Given the description of an element on the screen output the (x, y) to click on. 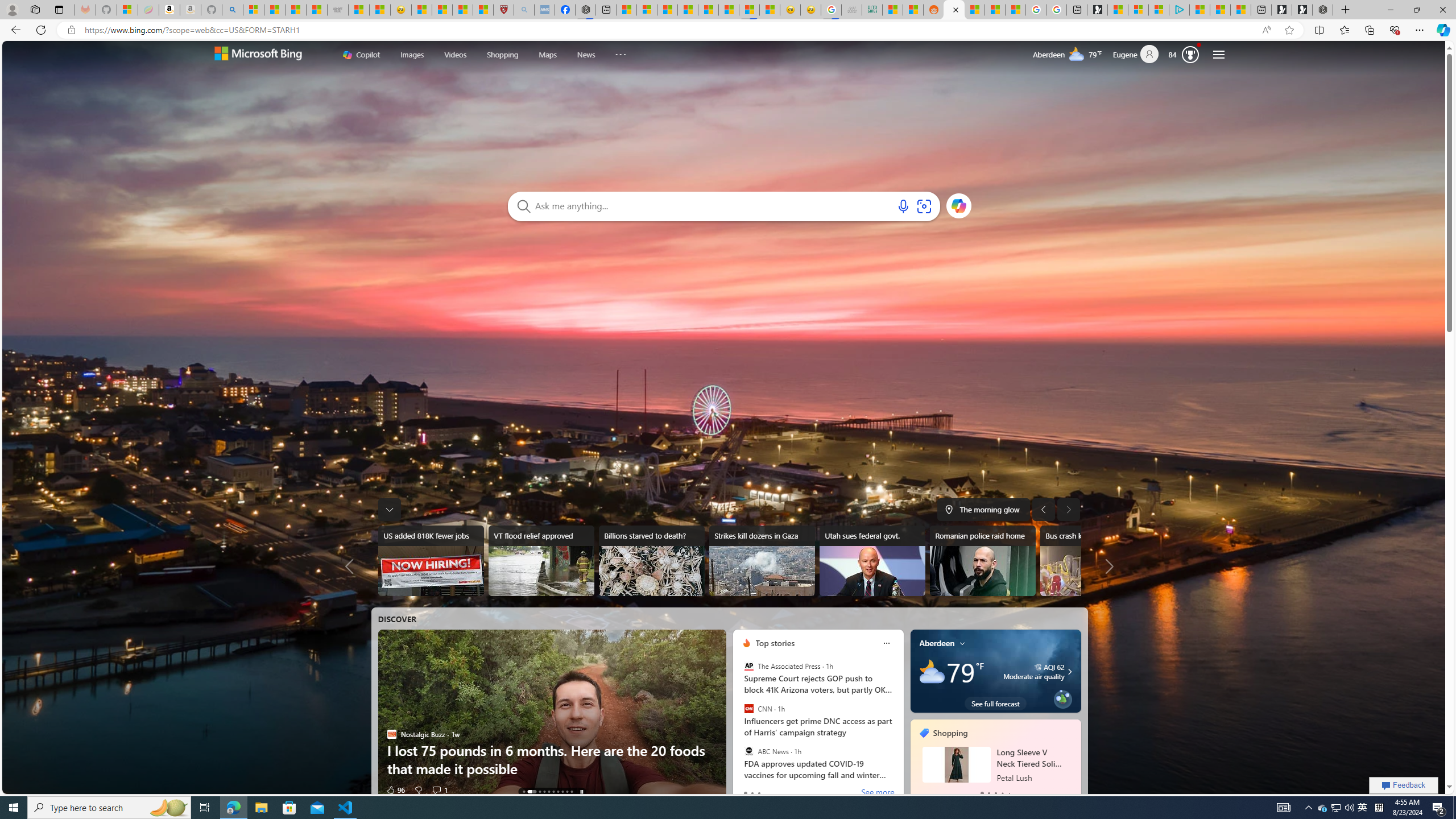
Animation (1198, 44)
next (1075, 760)
Recipes - MSN (421, 9)
AutomationID: tab-6 (558, 791)
Eugene (1140, 54)
AutomationID: tab-5 (553, 791)
Settings and quick links (1218, 54)
AutomationID: tab-0 (523, 791)
